Given the description of an element on the screen output the (x, y) to click on. 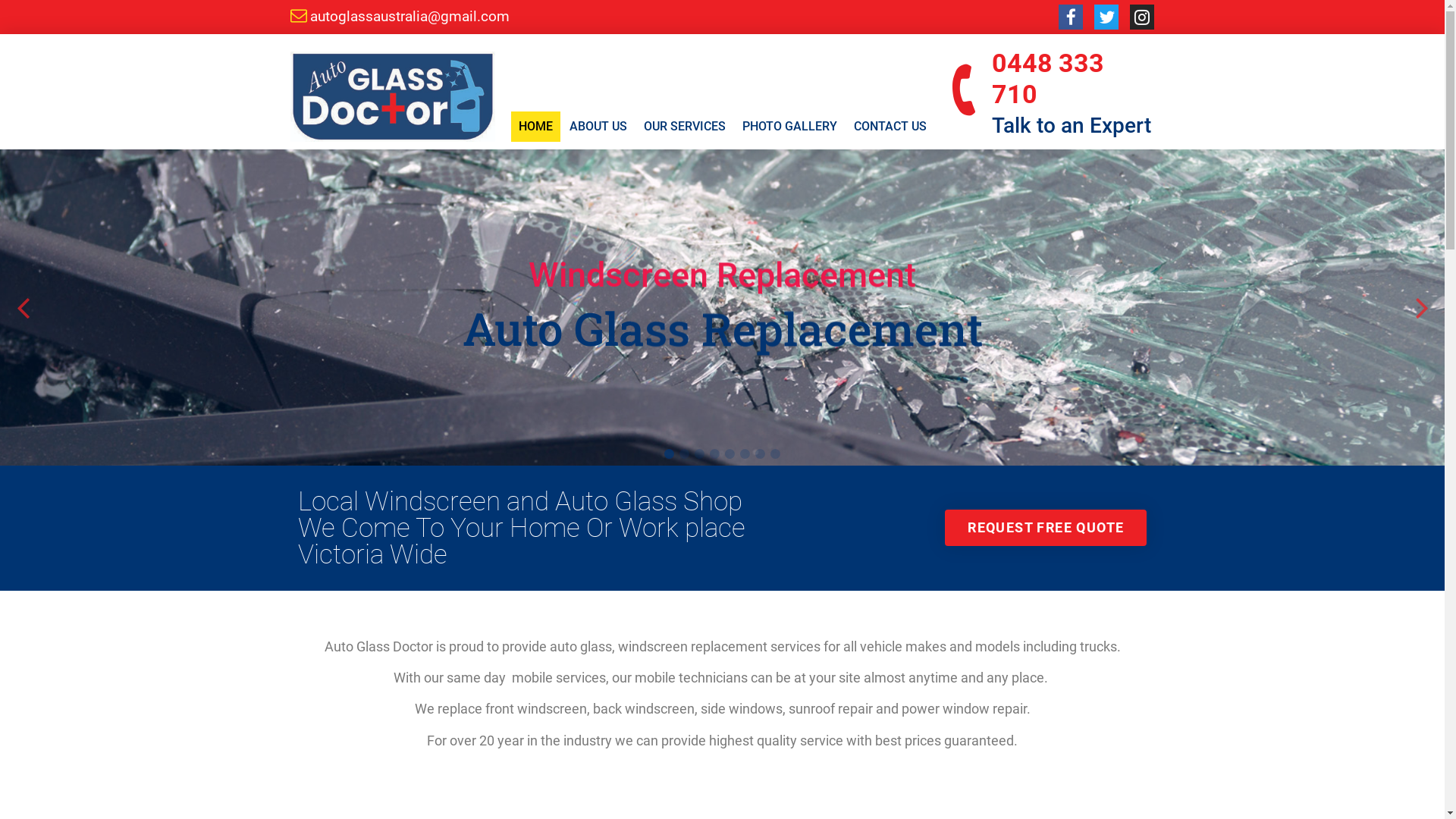
8 Element type: text (774, 453)
5 Element type: text (729, 453)
Previous Element type: text (22, 306)
2 Element type: text (683, 453)
PHOTO GALLERY Element type: text (789, 126)
Next Element type: text (1421, 306)
4 Element type: text (713, 453)
6 Element type: text (744, 453)
ABOUT US Element type: text (597, 126)
1 Element type: text (668, 453)
REQUEST FREE QUOTE Element type: text (1045, 527)
3 Element type: text (698, 453)
HOME Element type: text (535, 126)
7 Element type: text (759, 453)
CONTACT US Element type: text (890, 126)
OUR SERVICES Element type: text (683, 126)
